Given the description of an element on the screen output the (x, y) to click on. 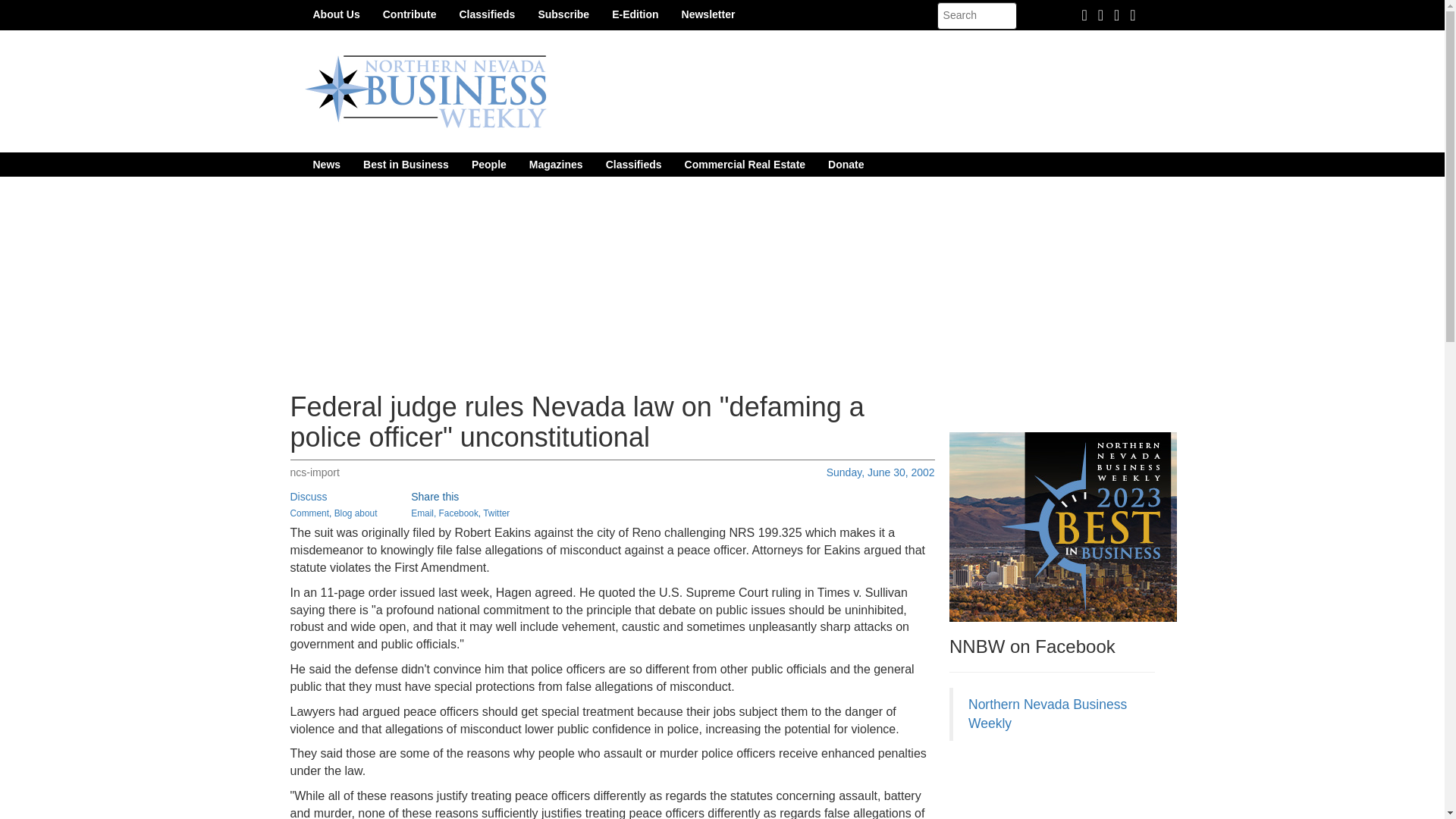
Comment (309, 512)
News (326, 164)
Commercial Real Estate (744, 164)
3rd party ad content (1062, 787)
Newsletter (707, 14)
Facebook (459, 512)
Classifieds (633, 164)
Best in Business (406, 164)
Donate (845, 164)
E-Edition (634, 14)
Email, (422, 512)
People (489, 164)
Discuss (307, 496)
Blog about (355, 512)
